Given the description of an element on the screen output the (x, y) to click on. 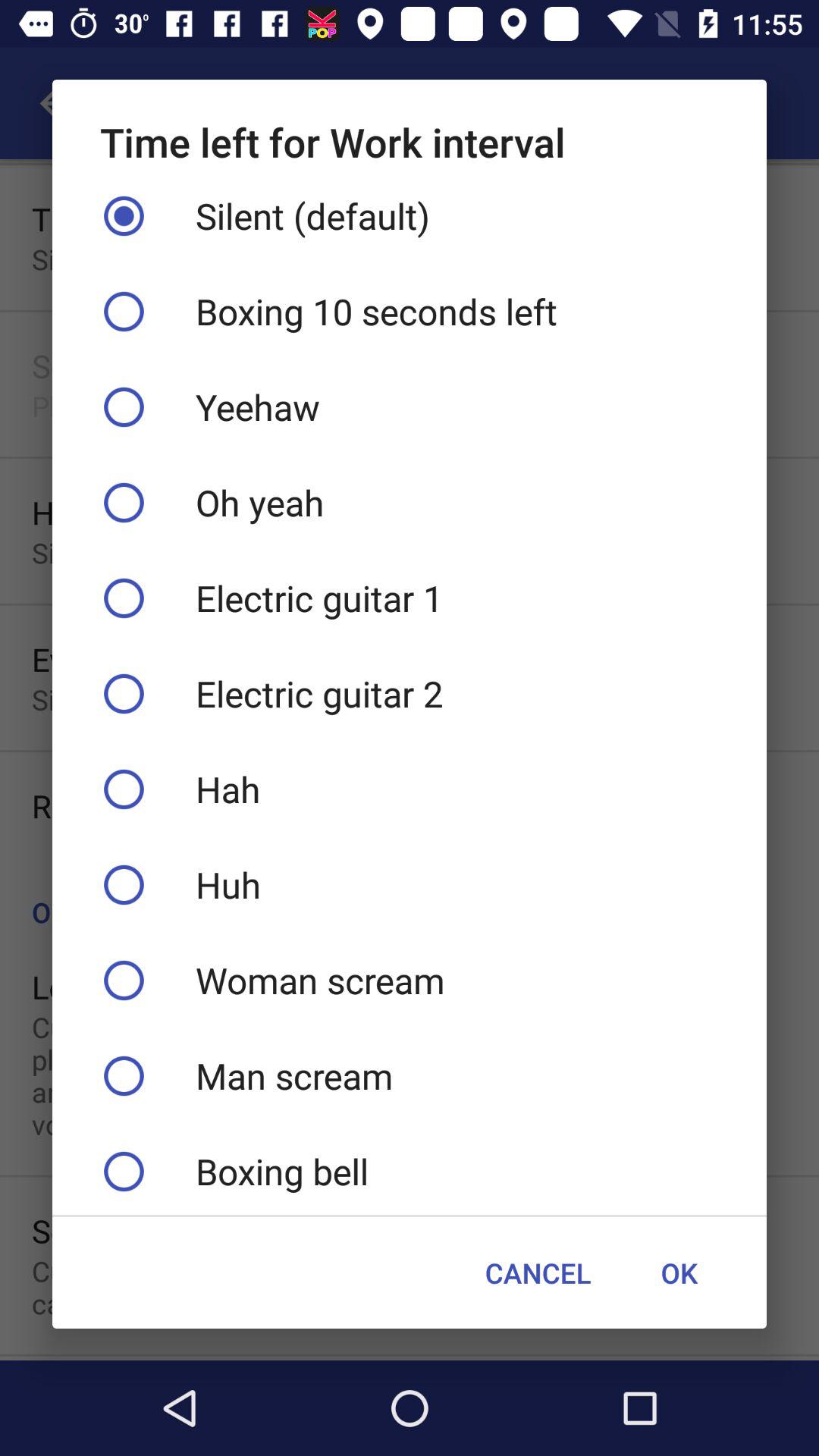
turn off the ok icon (678, 1272)
